Given the description of an element on the screen output the (x, y) to click on. 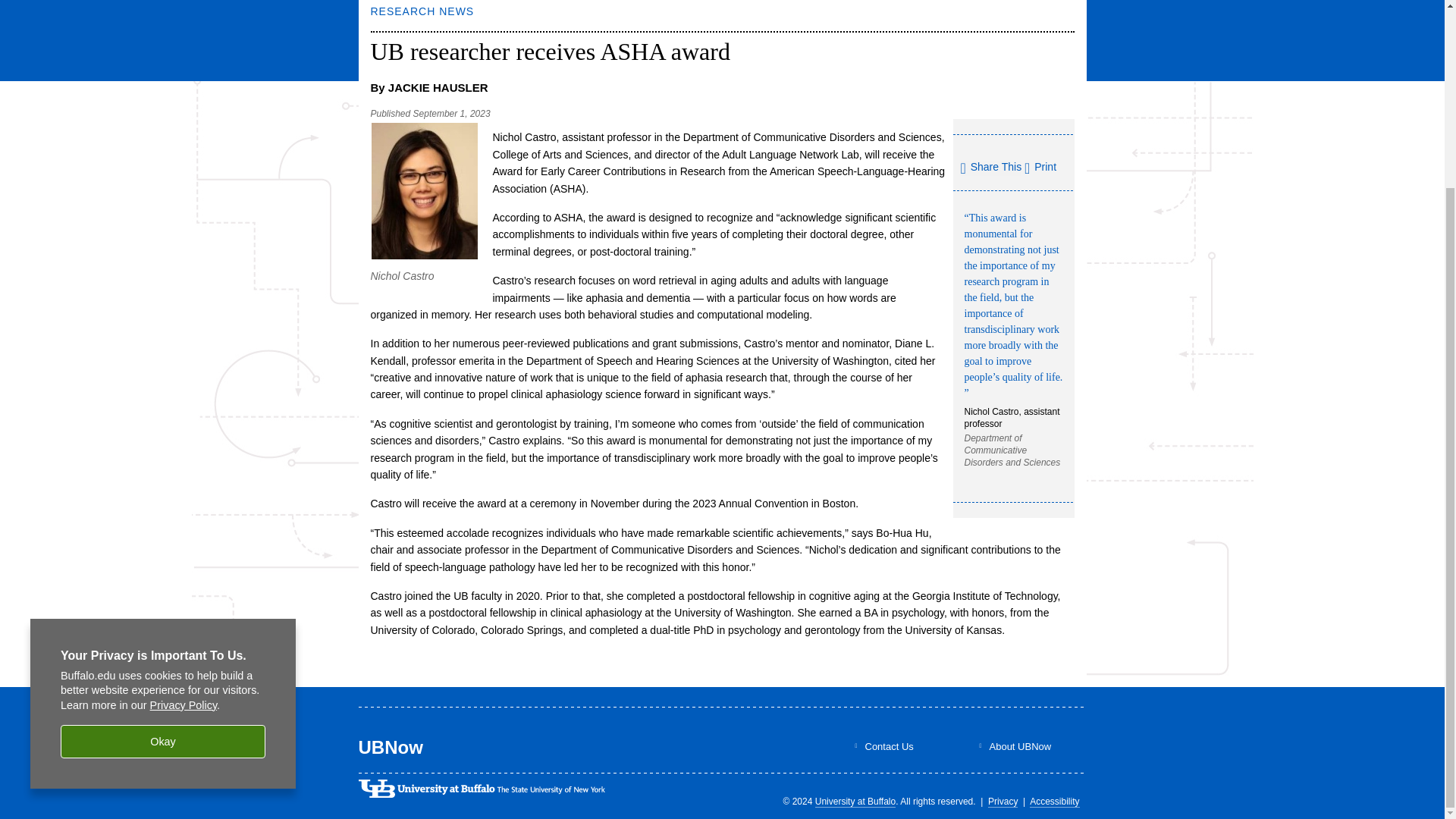
Okay (162, 507)
Privacy (1002, 801)
About UBNow (1019, 746)
Accessibility (1053, 801)
Share This (990, 168)
Privacy Policy (182, 471)
Contact Us (888, 746)
University at Buffalo (855, 801)
Print (1041, 166)
